Given the description of an element on the screen output the (x, y) to click on. 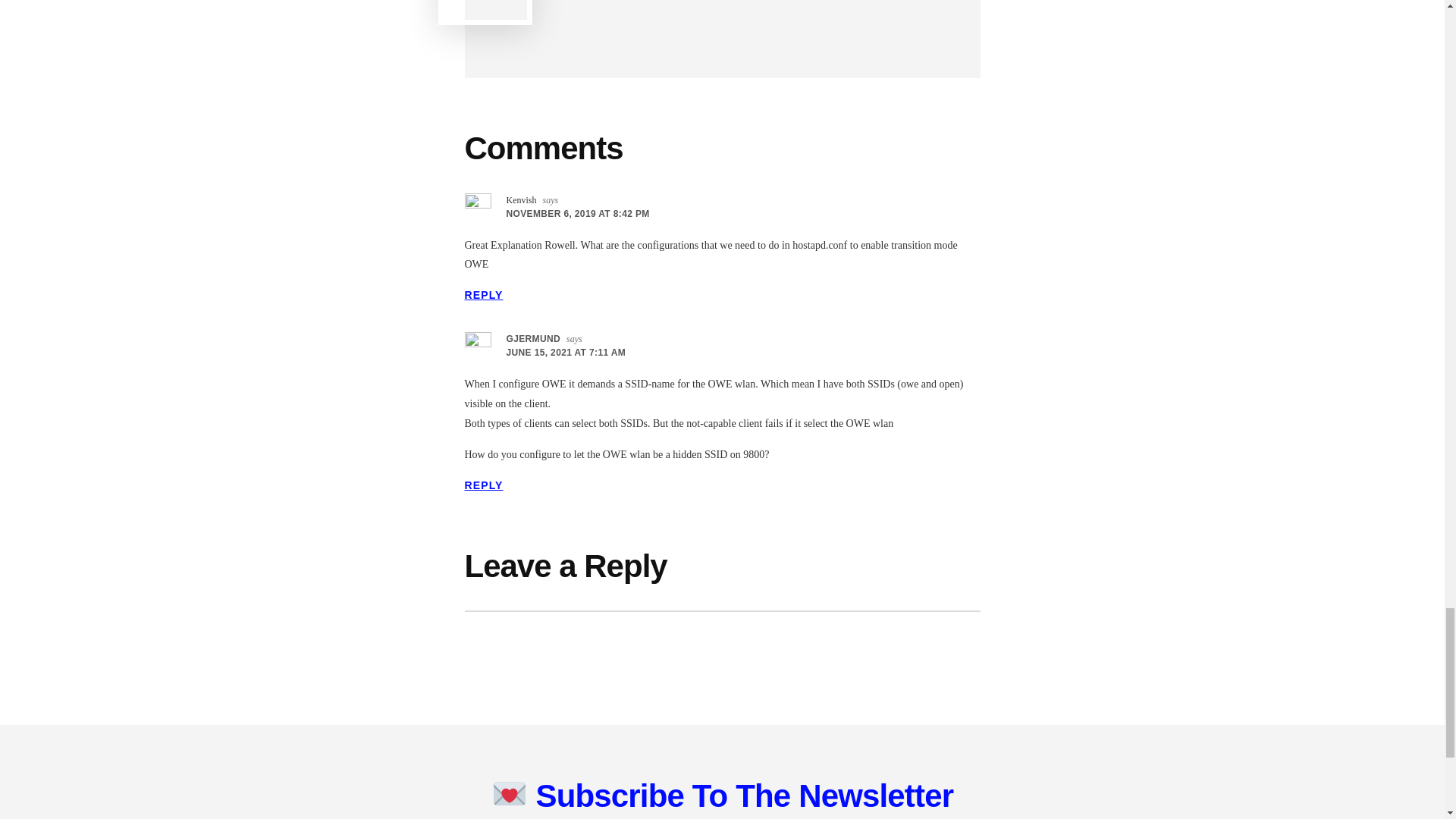
REPLY (483, 485)
JUNE 15, 2021 AT 7:11 AM (566, 352)
NOVEMBER 6, 2019 AT 8:42 PM (577, 213)
REPLY (483, 295)
GJERMUND (533, 338)
